Given the description of an element on the screen output the (x, y) to click on. 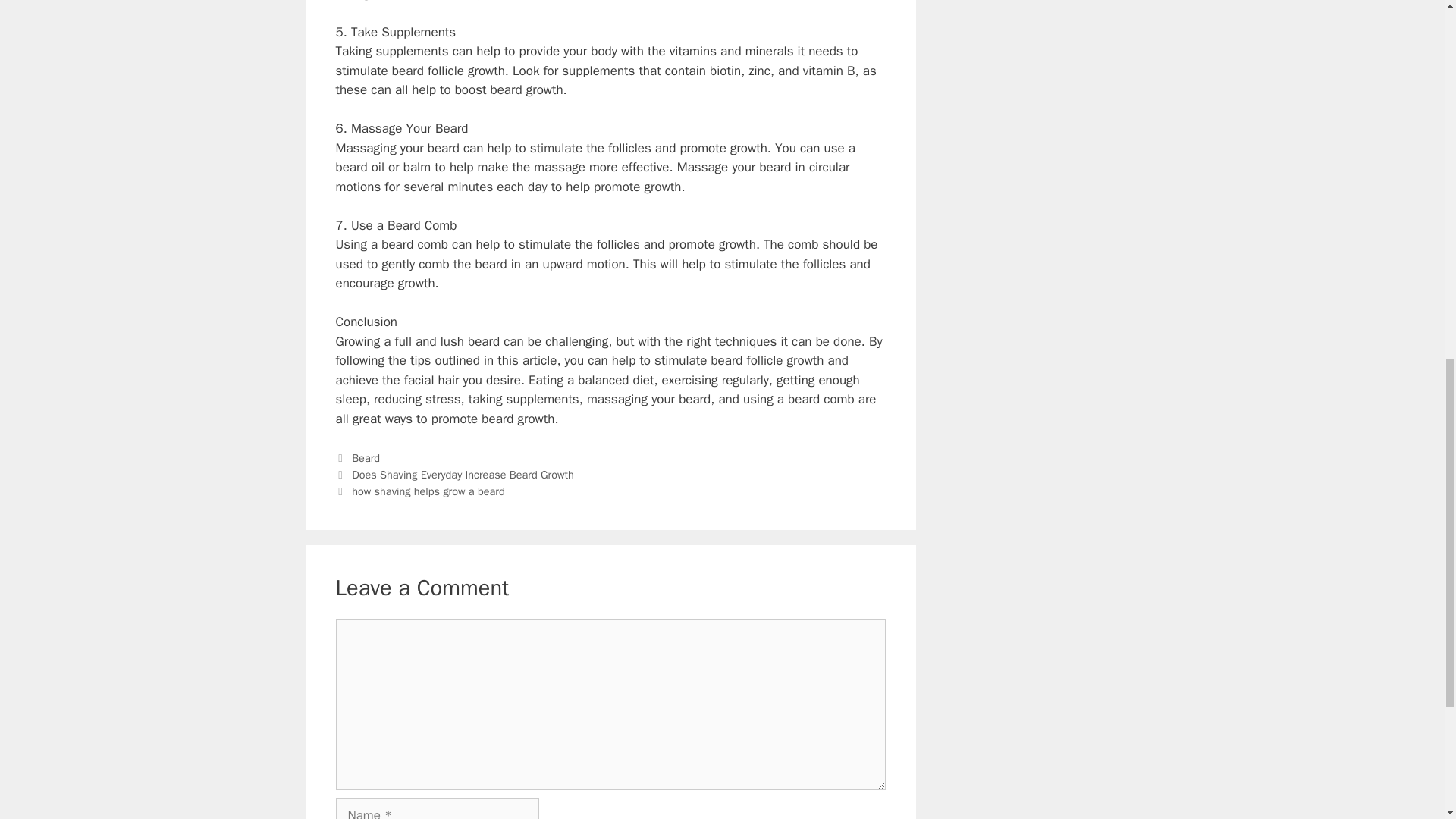
how shaving helps grow a beard (428, 490)
Beard (366, 458)
Does Shaving Everyday Increase Beard Growth (462, 474)
